Given the description of an element on the screen output the (x, y) to click on. 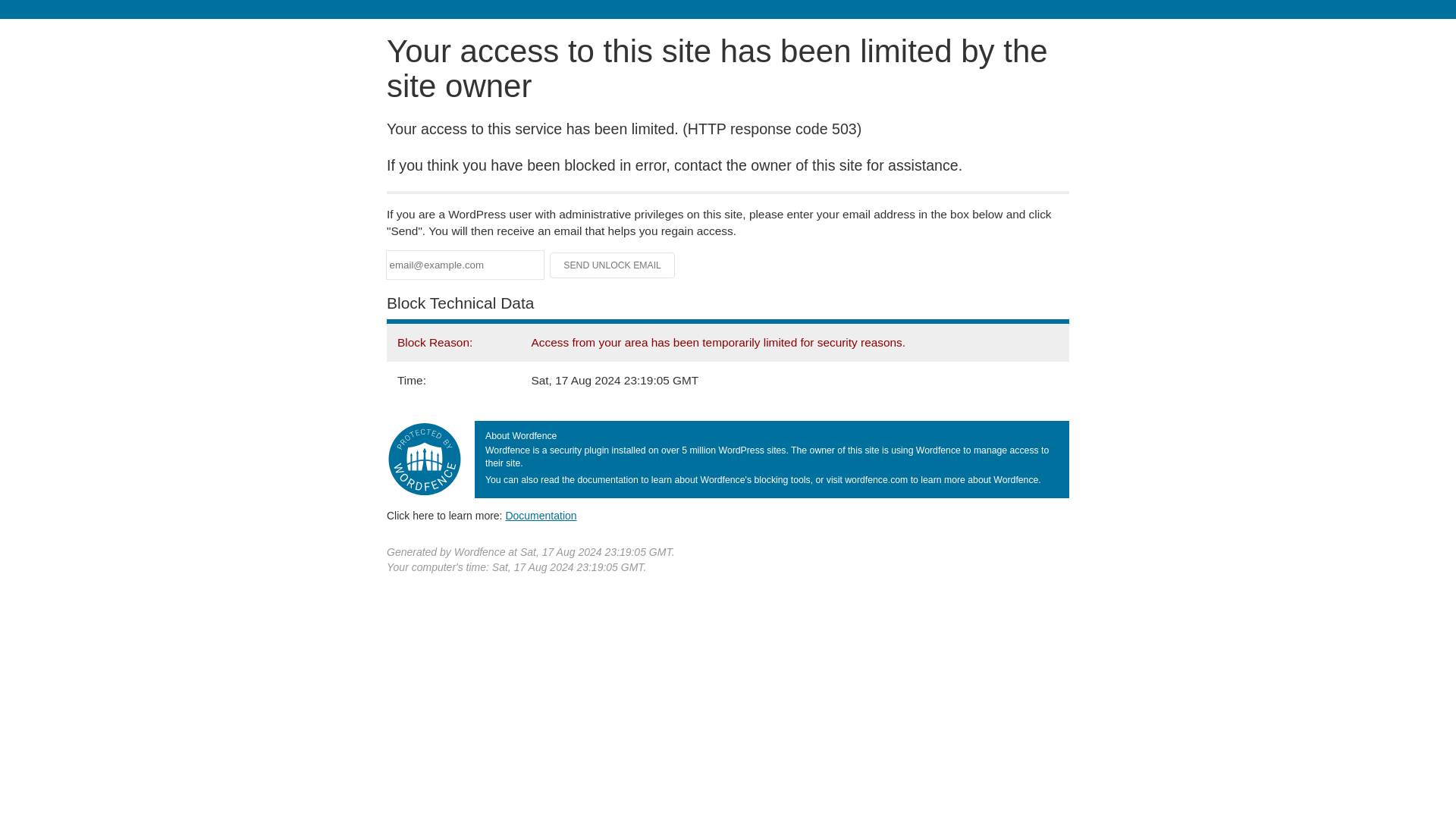
Send Unlock Email (612, 265)
Send Unlock Email (612, 265)
Documentation (540, 515)
